Given the description of an element on the screen output the (x, y) to click on. 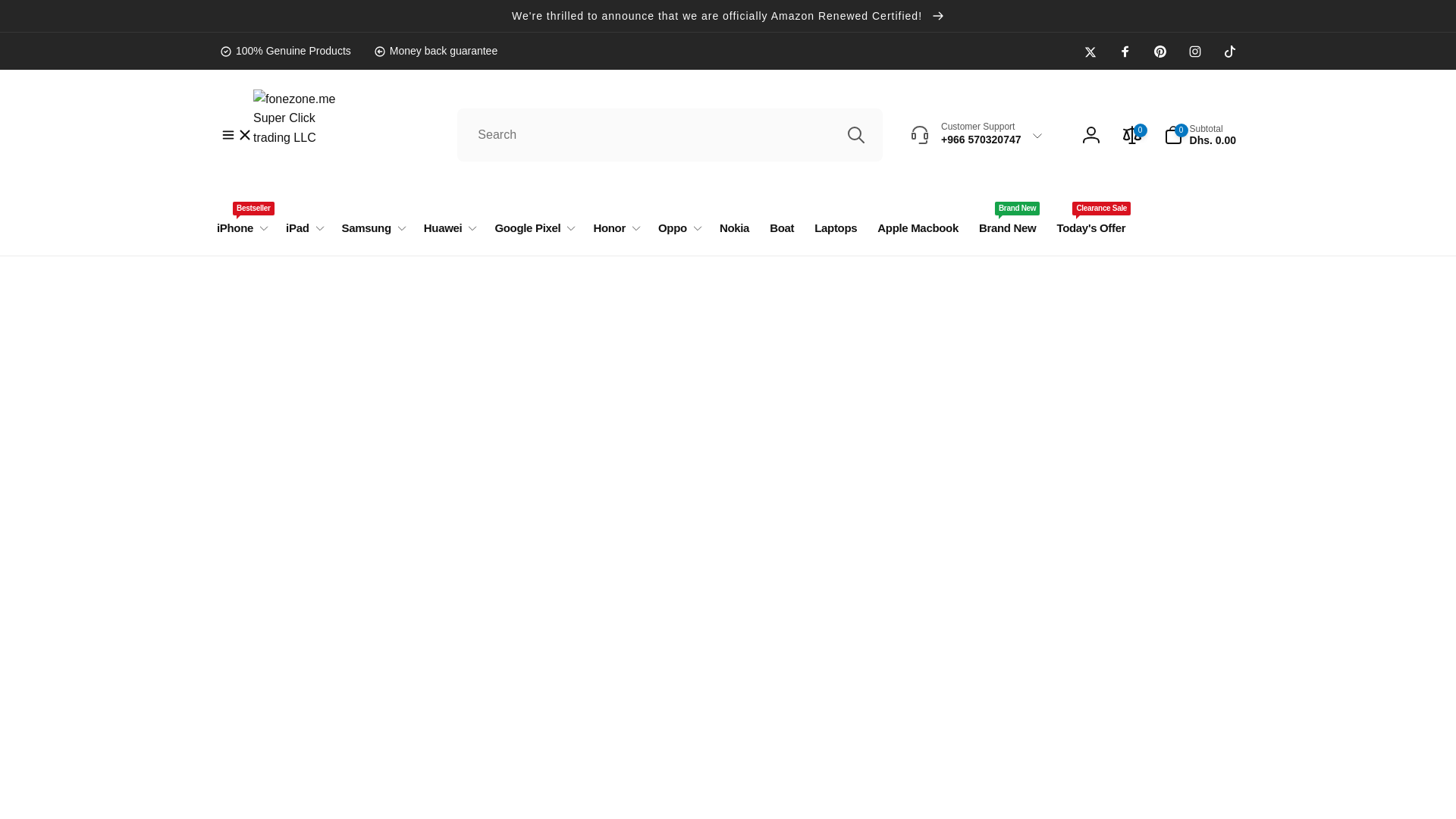
Pinterest (1160, 51)
Twitter (1090, 51)
Instagram (1195, 51)
TikTok (1230, 51)
Facebook (1125, 51)
Skip to content (16, 8)
